Given the description of an element on the screen output the (x, y) to click on. 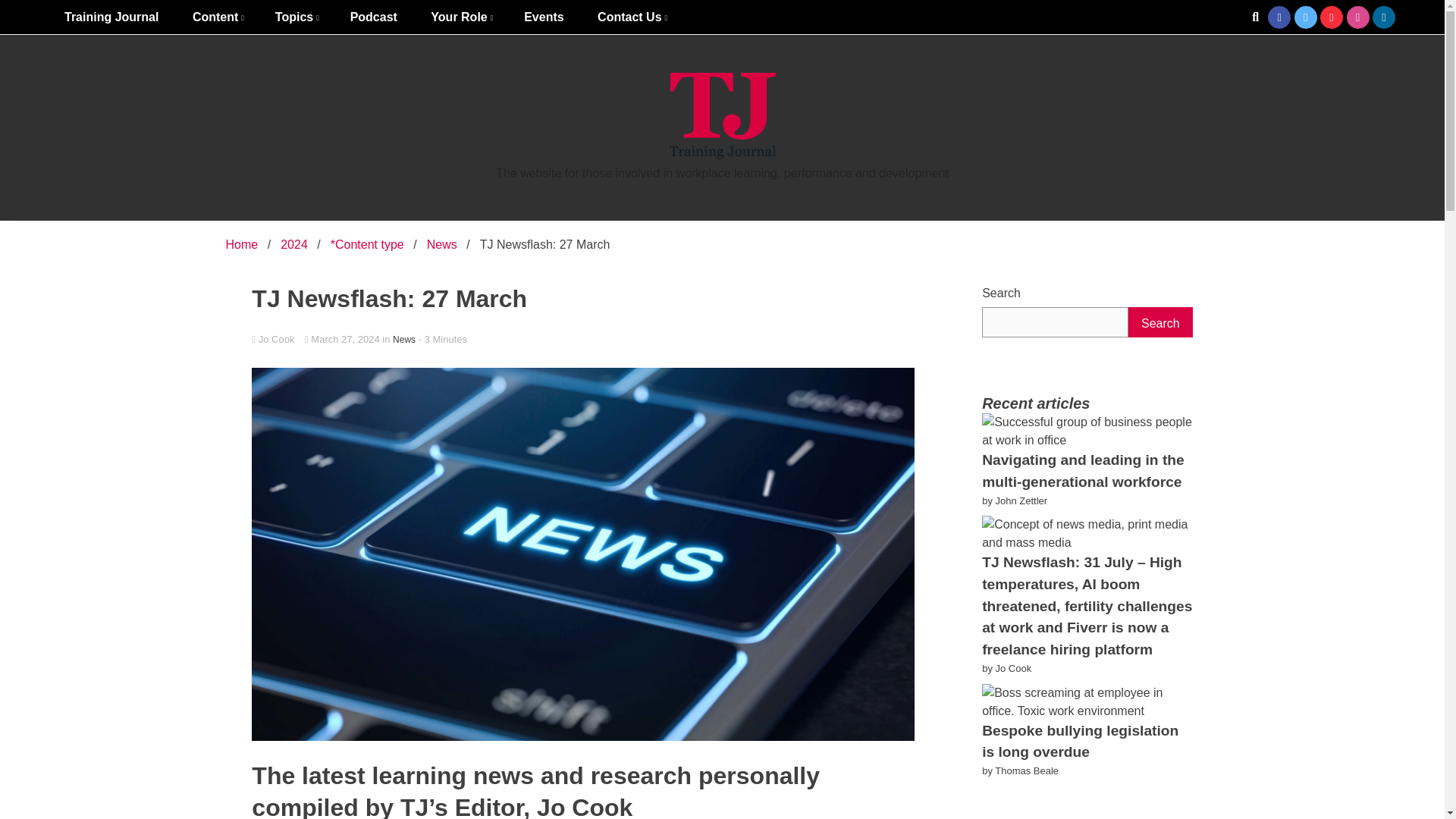
Podcast (373, 17)
Your Role (459, 17)
Training Journal (111, 17)
Events (543, 17)
Content (216, 17)
Topics (295, 17)
Estimated Reading Time of Article (454, 338)
